Given the description of an element on the screen output the (x, y) to click on. 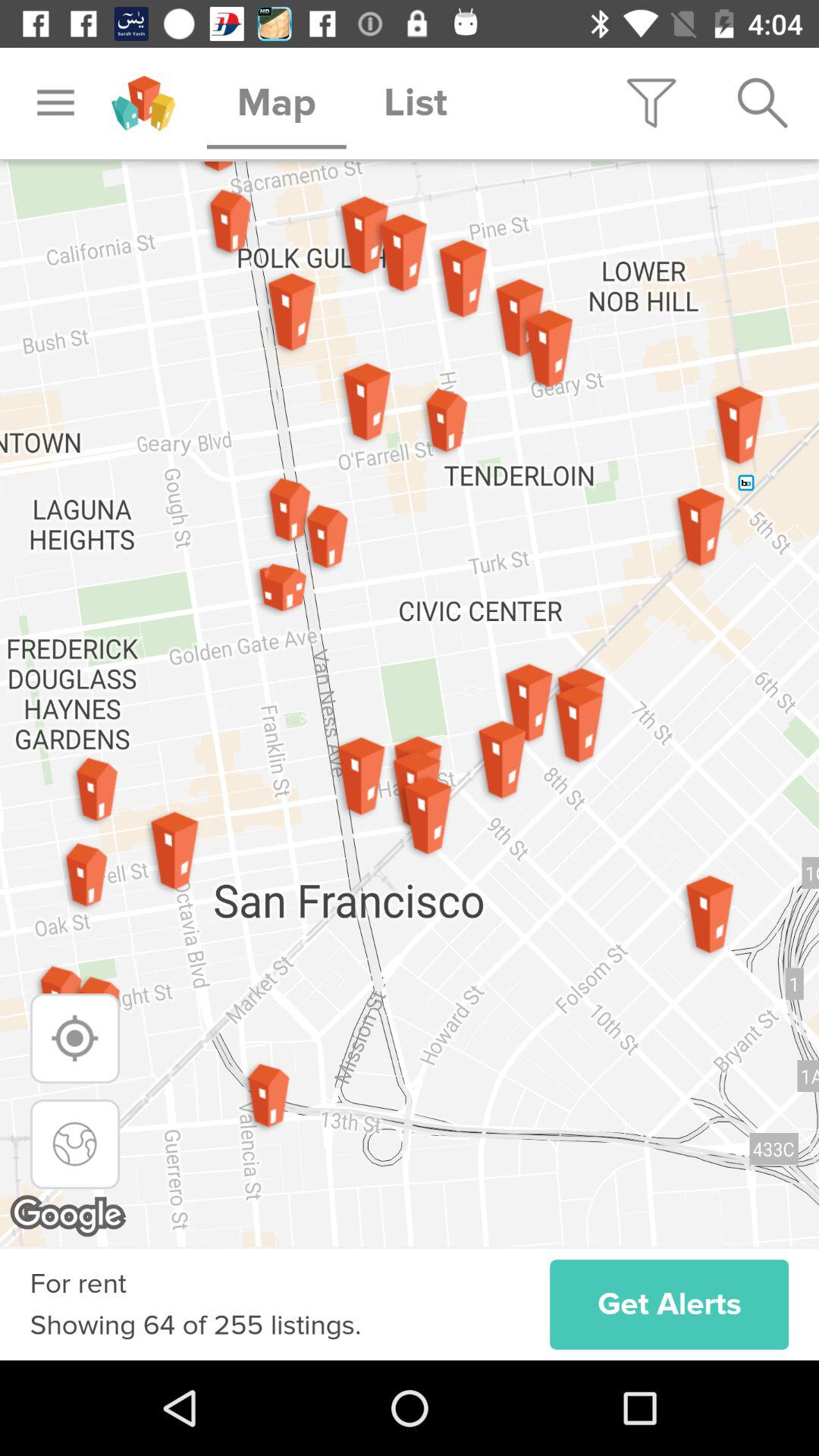
swipe to get alerts (668, 1304)
